Given the description of an element on the screen output the (x, y) to click on. 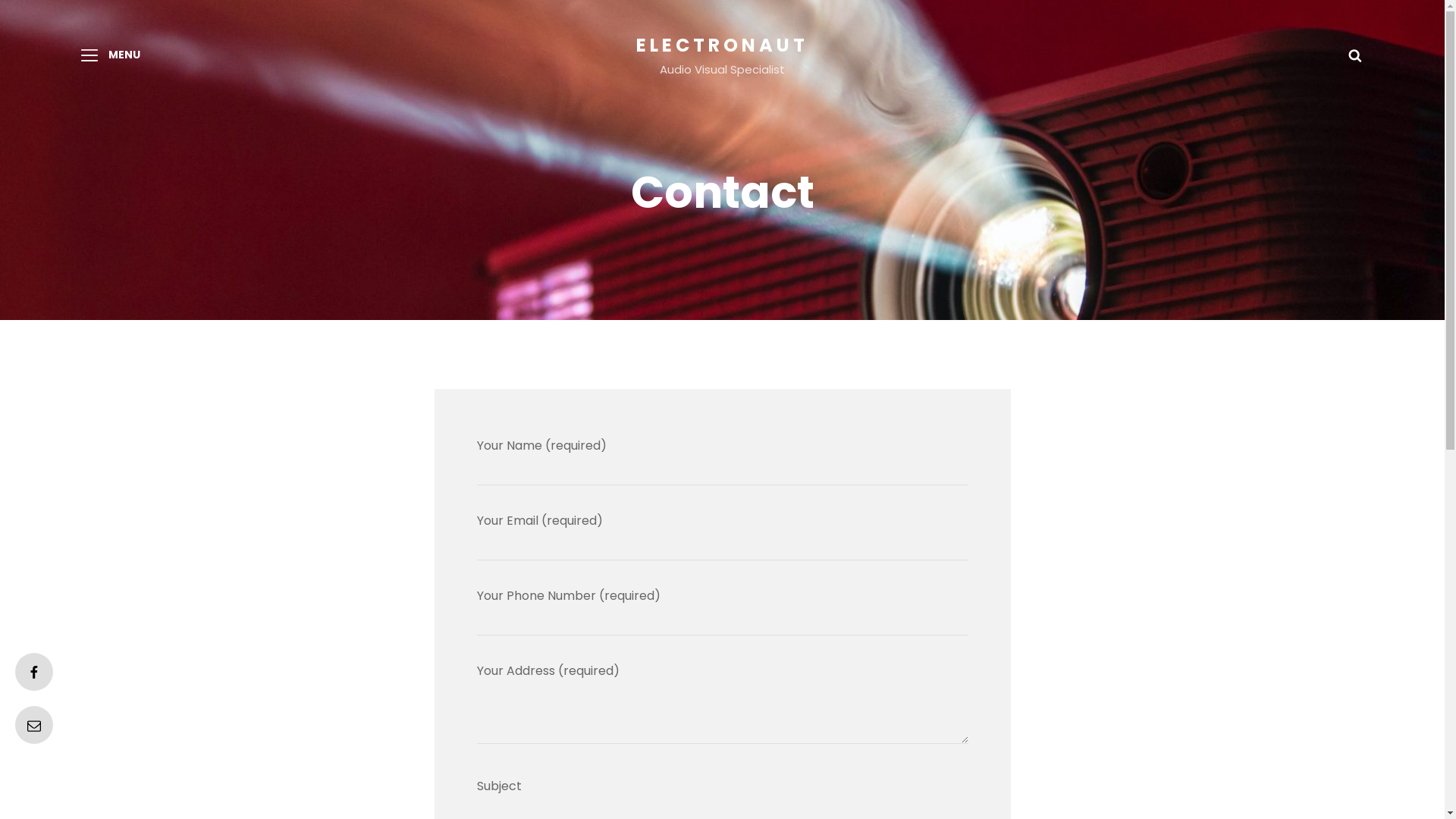
Search Element type: text (1354, 54)
MENU Element type: text (110, 55)
ELECTRONAUT Element type: text (722, 44)
Facebook Element type: text (34, 671)
Email Element type: text (34, 724)
